Given the description of an element on the screen output the (x, y) to click on. 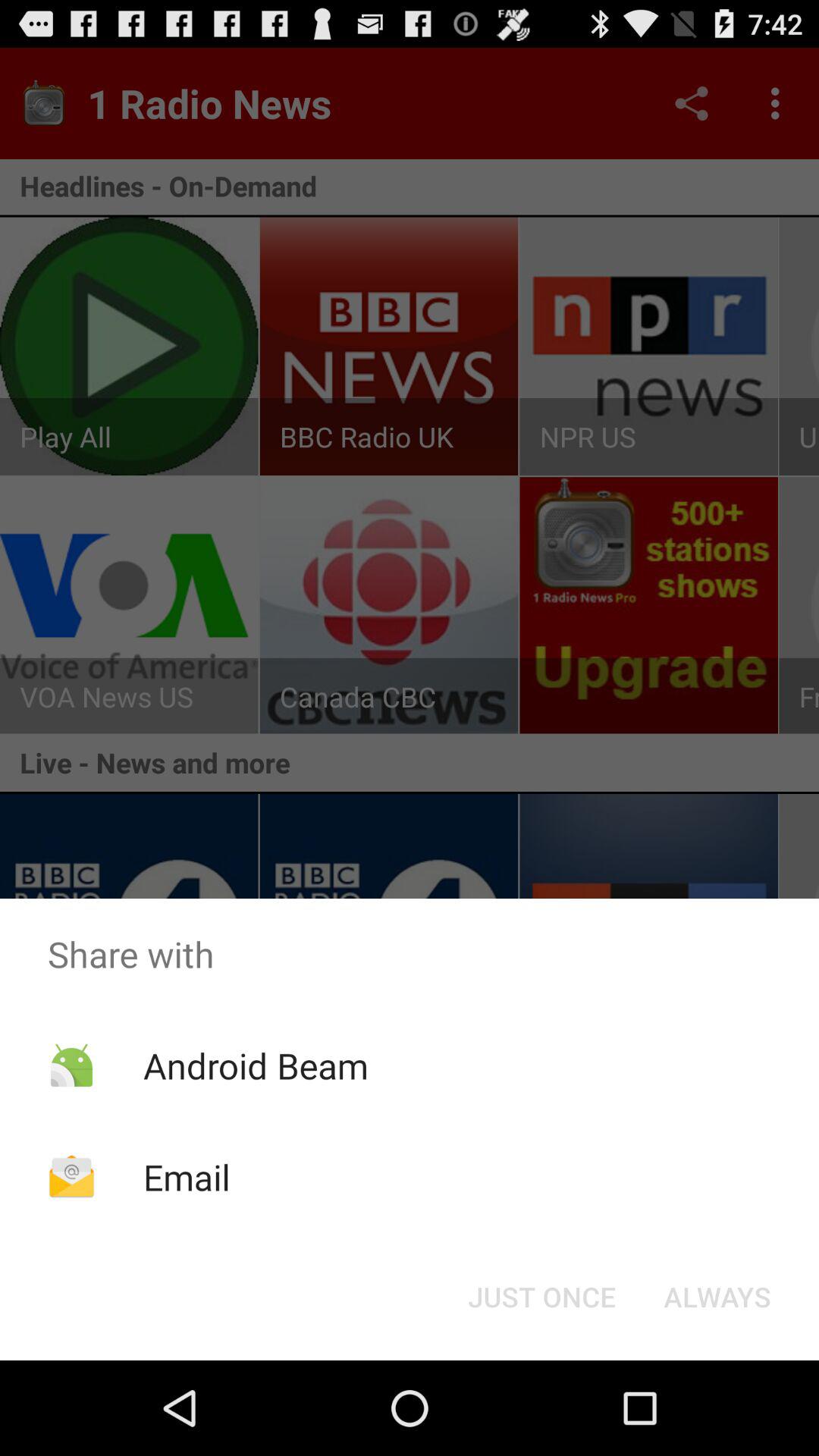
turn off icon next to the just once (717, 1296)
